Given the description of an element on the screen output the (x, y) to click on. 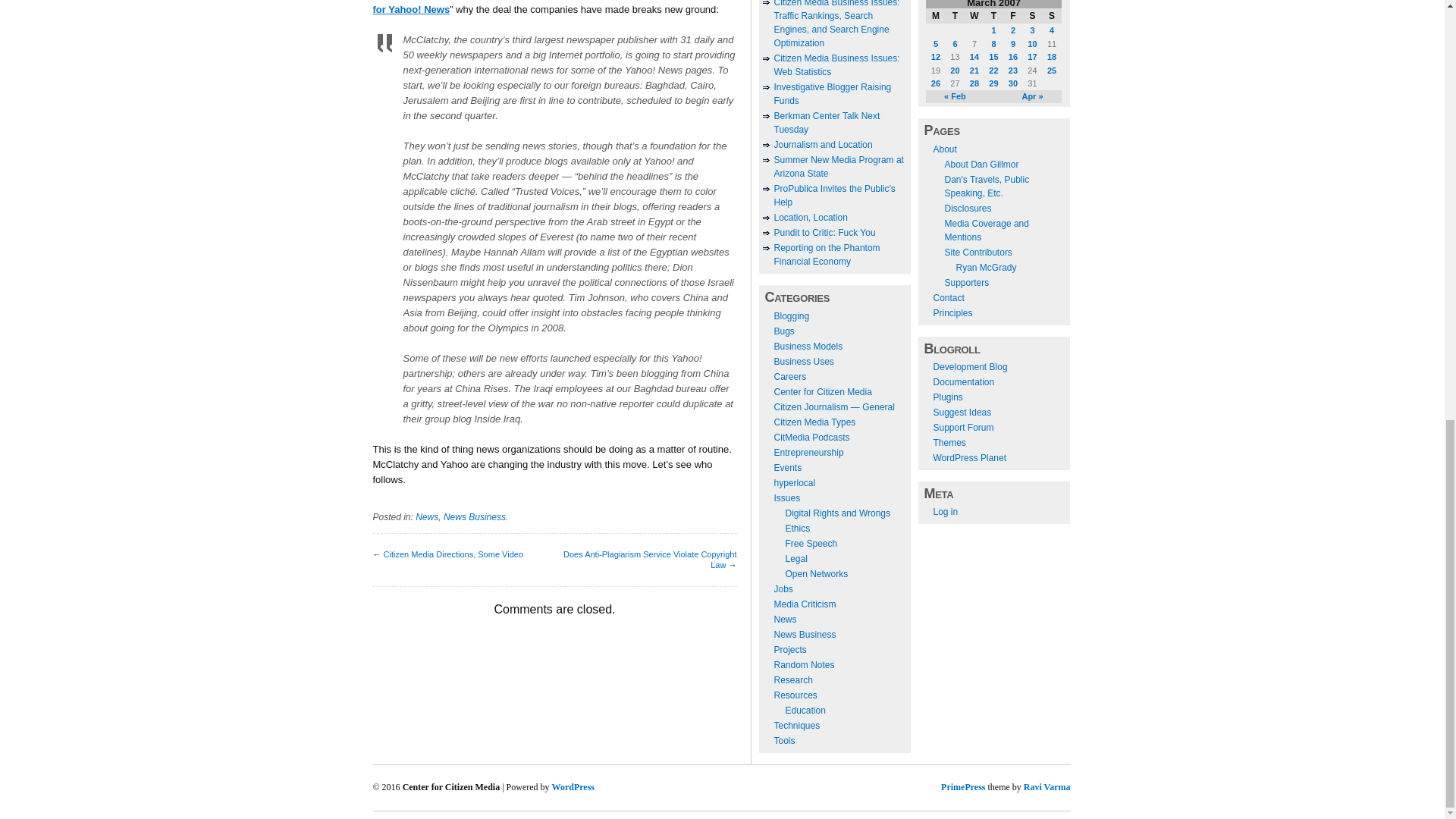
Entrepreneurship (808, 452)
Journalism and Location (822, 144)
Friday (1013, 15)
hyperlocal (794, 482)
Citizen Media Business Issues: Web Statistics (836, 64)
Foreign correspondence for Yahoo! News (551, 7)
Citizen Media Directions, Some Video (453, 553)
Summer New Media Program at Arizona State (837, 166)
Blogging (791, 316)
Bugs (783, 330)
Ethics (798, 528)
Reporting on the Phantom Financial Economy (826, 254)
Pundit to Critic: Fuck You (824, 232)
Events (787, 467)
